Given the description of an element on the screen output the (x, y) to click on. 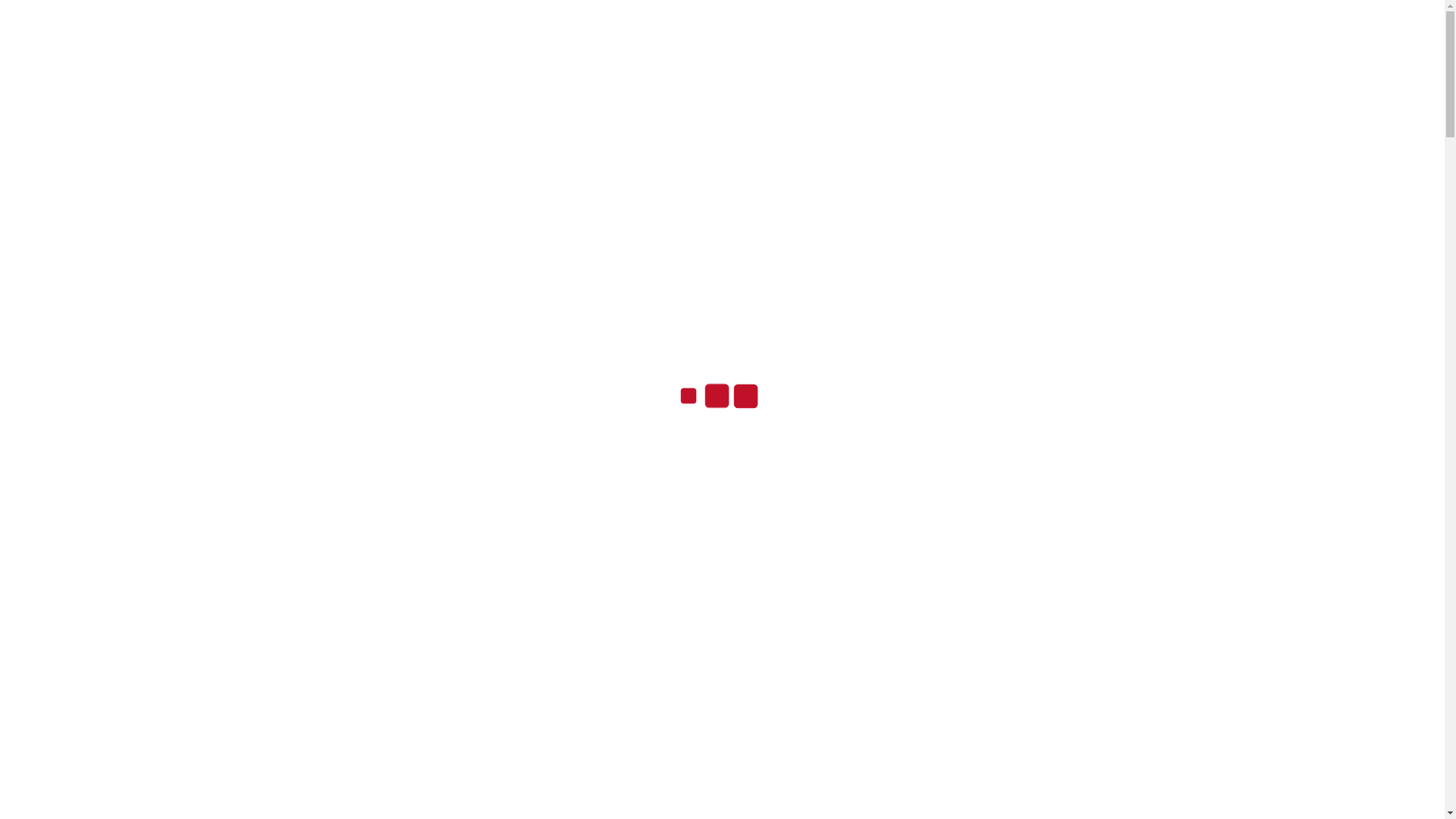
Calendar Element type: text (771, 127)
Georama 2023 order form Element type: text (735, 685)
Guidelines for K-12 Settings Element type: text (973, 809)
News Element type: text (905, 127)
Home Element type: text (507, 127)
PAC & Grad Element type: text (687, 127)
IH Photo Element type: hover (1197, 643)
gfss@sd51.bc.ca Element type: text (431, 14)
Contact Element type: text (843, 127)
Our School Element type: text (588, 127)
